Given the description of an element on the screen output the (x, y) to click on. 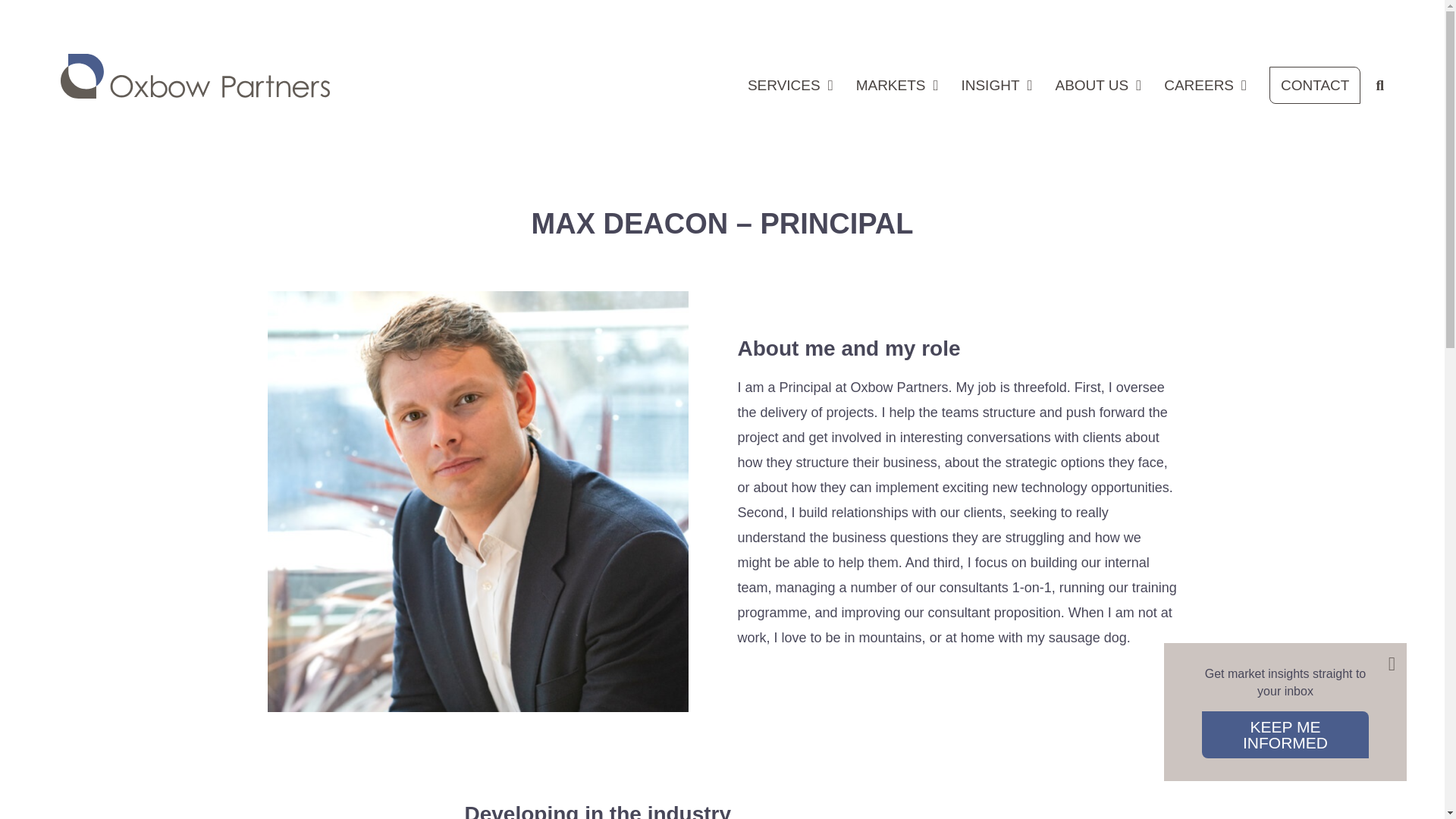
Search (937, 411)
KEEP ME INFORMED (1285, 734)
SERVICES (790, 88)
